Given the description of an element on the screen output the (x, y) to click on. 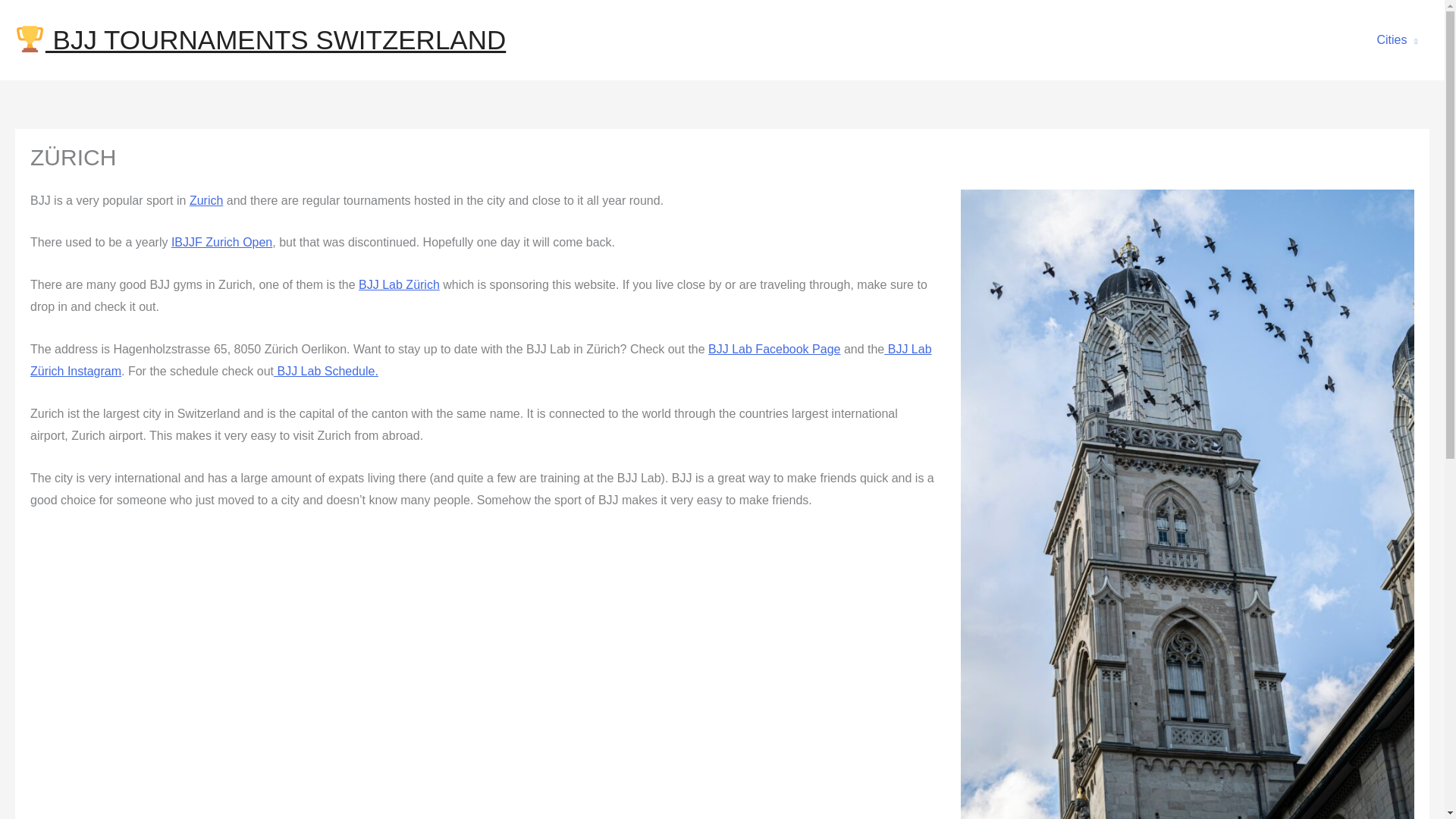
Cities (1396, 39)
IBJJF Zurich Open (221, 241)
BJJ Lab Facebook Page (773, 349)
BJJ TOURNAMENTS SWITZERLAND (259, 39)
Zurich (205, 200)
BJJ Lab Schedule. (325, 370)
